Given the description of an element on the screen output the (x, y) to click on. 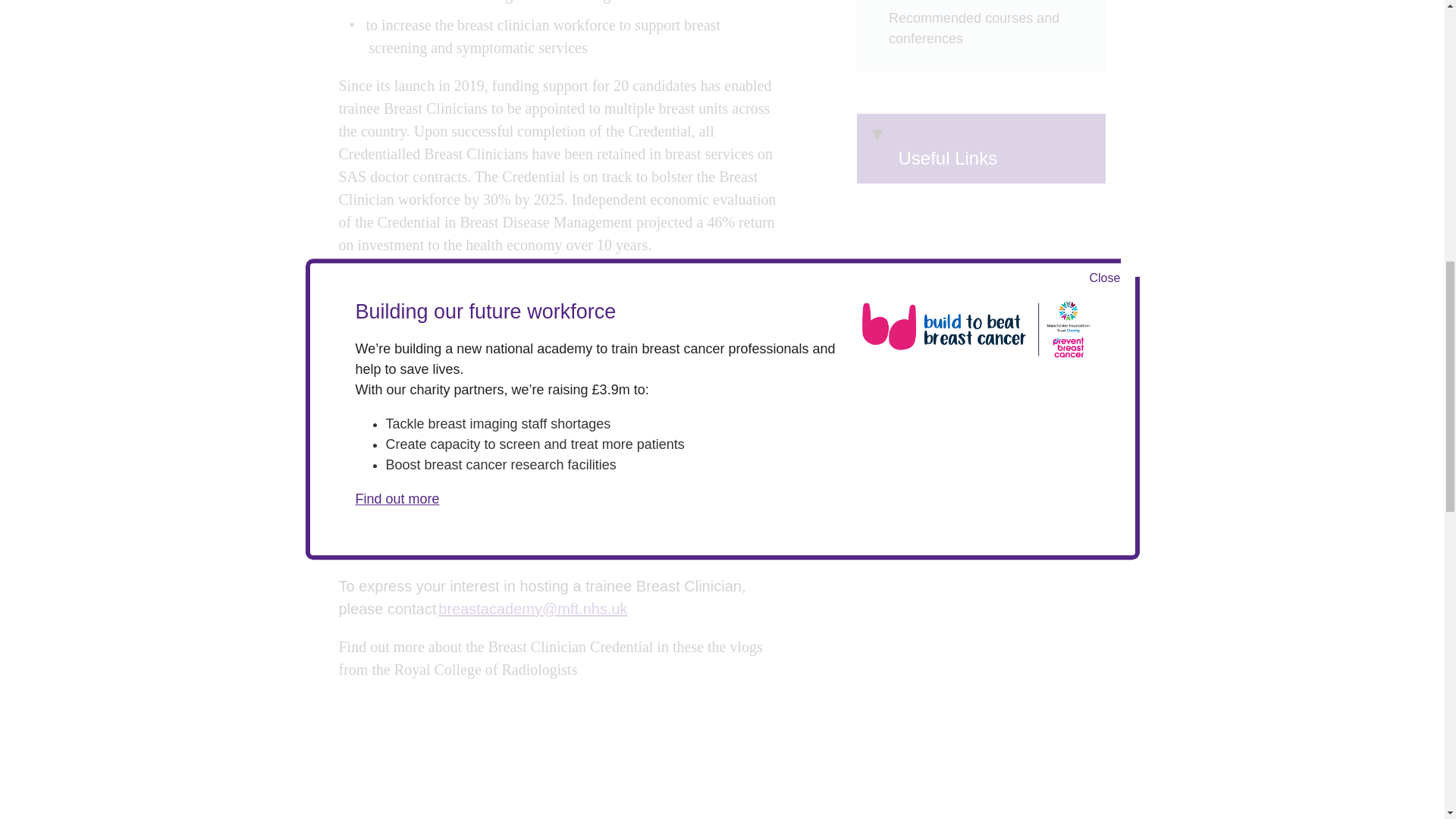
Royal College of Radiologists - Meet the Breast Clinicians (527, 757)
